Given the description of an element on the screen output the (x, y) to click on. 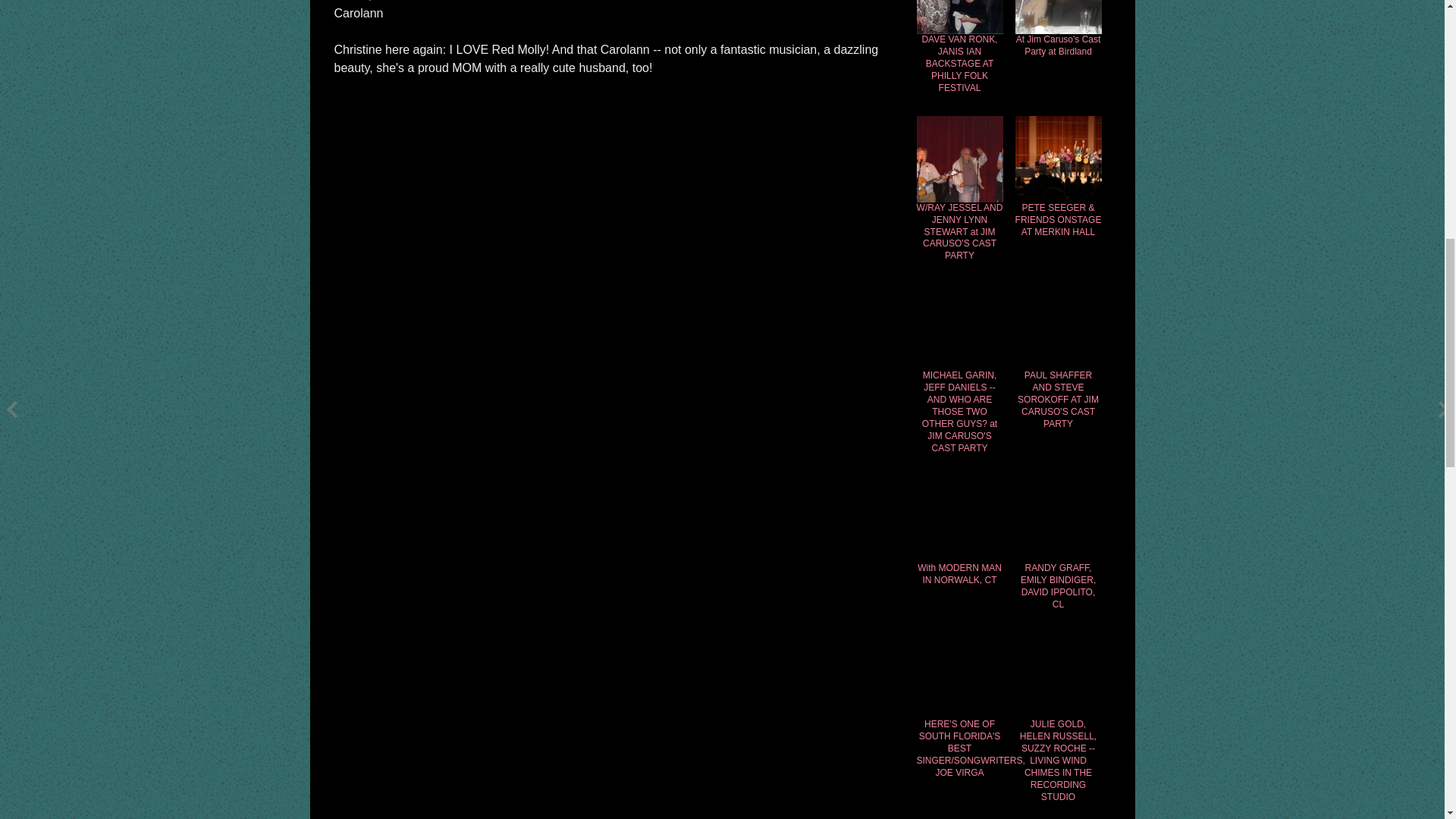
DAVE VAN RONK, JANIS IAN BACKSTAGE AT PHILLY FOLK FESTIVAL (959, 64)
At Jim Caruso's Cast Party at Birdland (1057, 46)
